Given the description of an element on the screen output the (x, y) to click on. 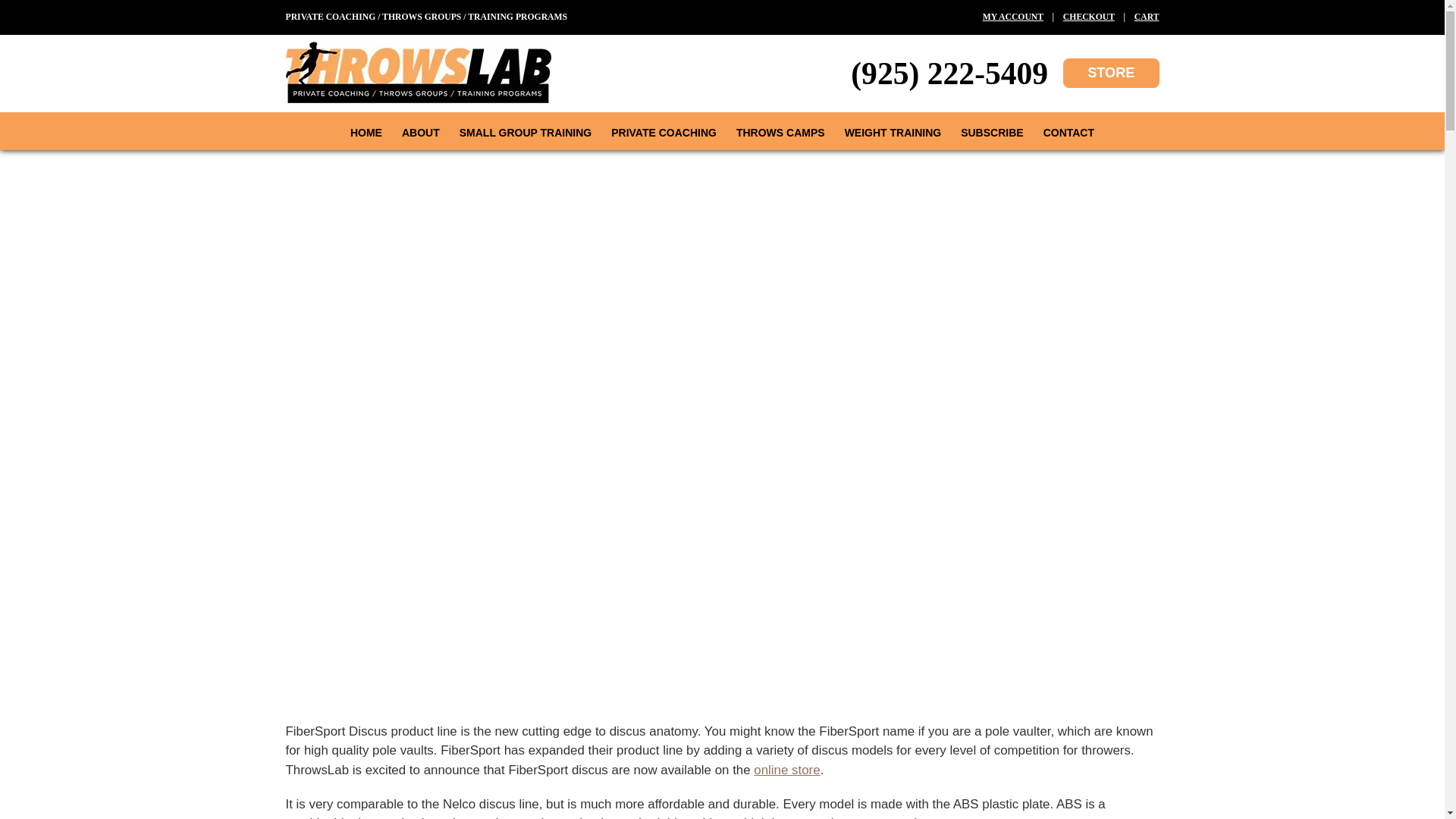
THROWS CAMPS (780, 132)
ThrowsLab (417, 96)
ABOUT (420, 132)
CONTACT (1068, 132)
WEIGHT TRAINING (893, 132)
MY ACCOUNT (1012, 17)
HOME (365, 132)
PRIVATE COACHING (663, 132)
STORE (1110, 72)
